Given the description of an element on the screen output the (x, y) to click on. 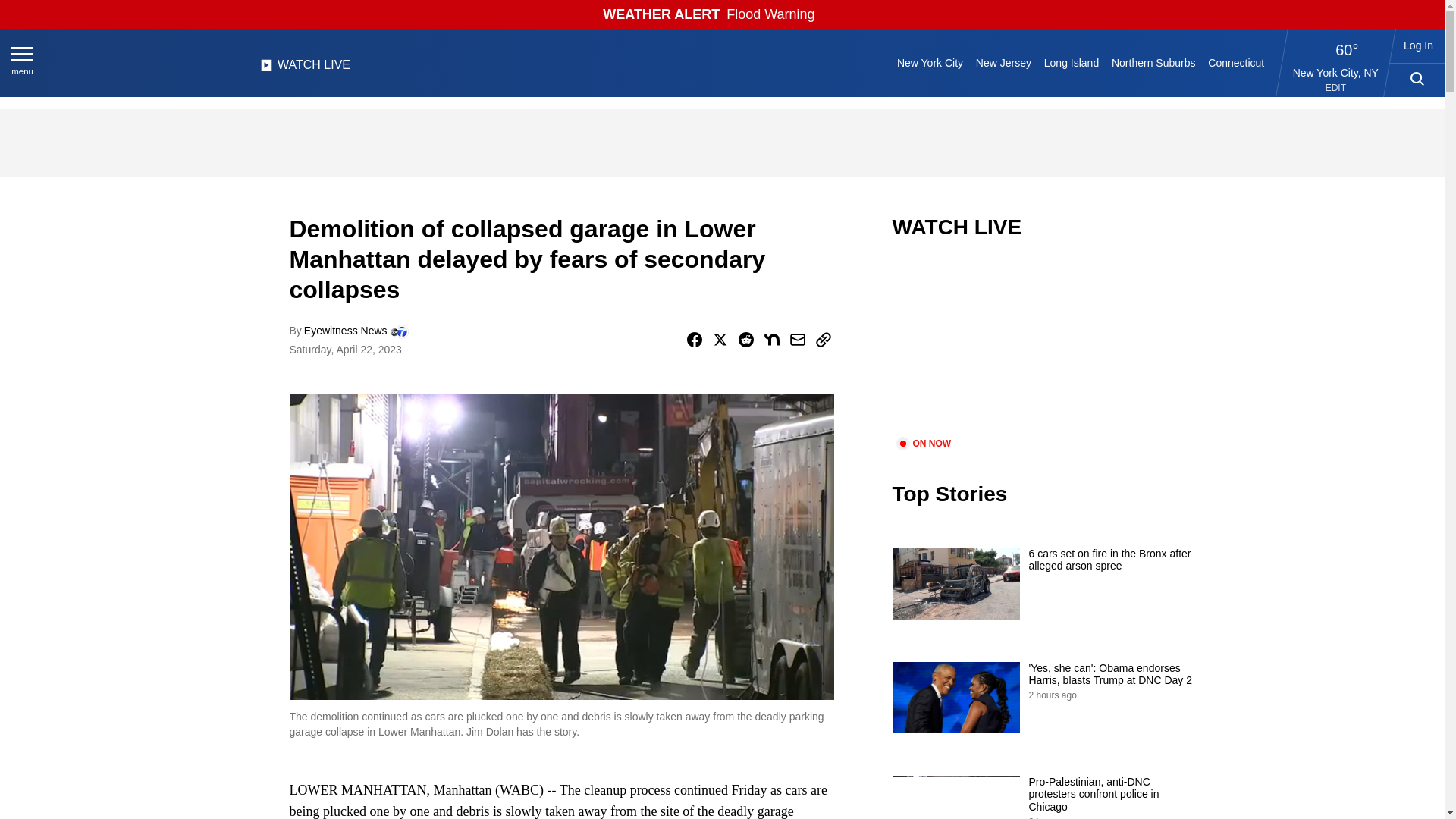
New York City, NY (1335, 72)
Northern Suburbs (1153, 62)
EDIT (1334, 87)
New Jersey (1002, 62)
Long Island (1070, 62)
video.title (1043, 347)
WATCH LIVE (305, 69)
New York City (930, 62)
Connecticut (1236, 62)
